Given the description of an element on the screen output the (x, y) to click on. 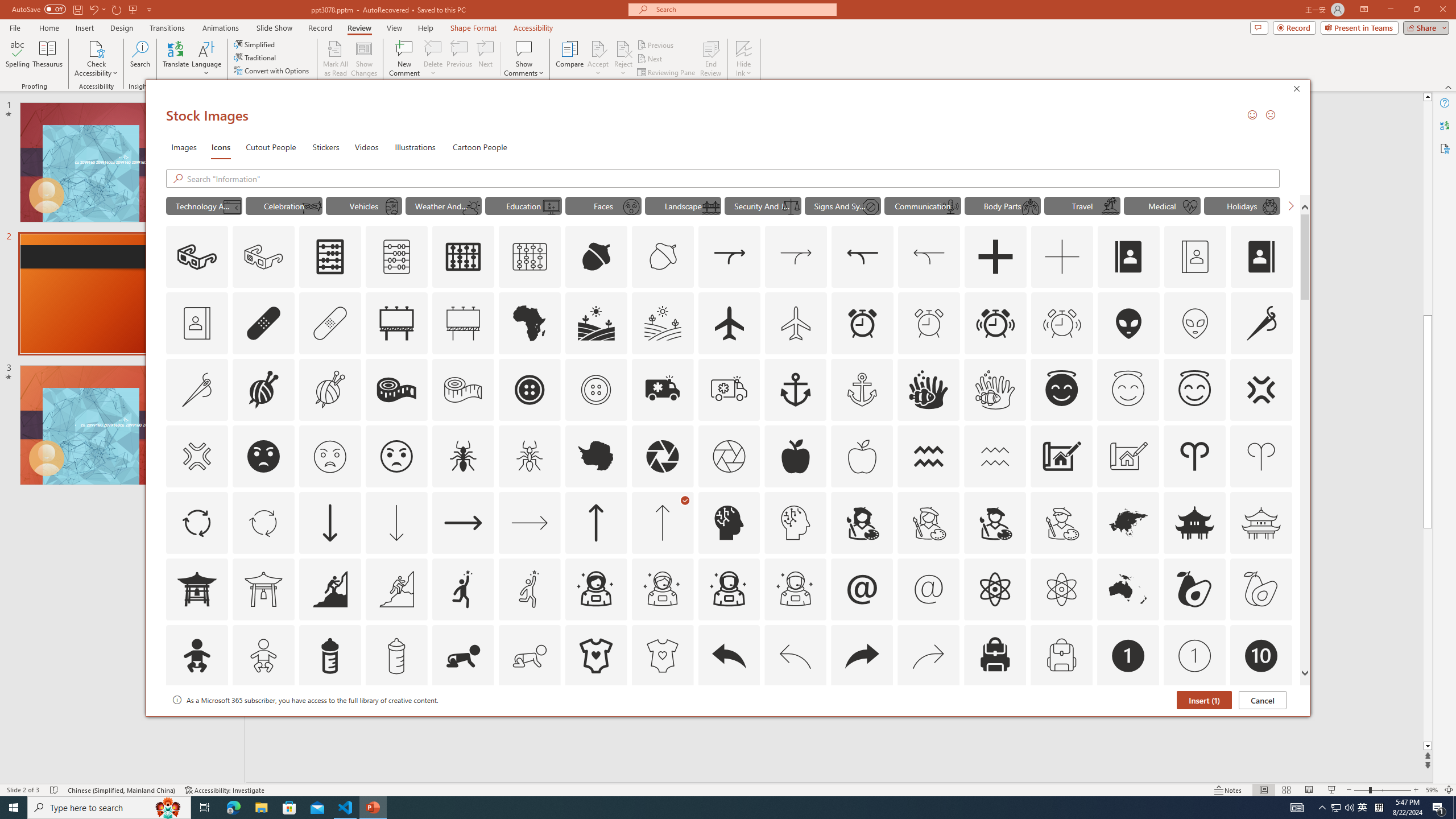
Send a Frown (1269, 114)
"Communication" Icons. (921, 205)
AutomationID: Icons_AlterationsTailoring (1261, 323)
AutomationID: Icons_AngerSymbol_M (196, 455)
AutomationID: Icons_Aperture (662, 455)
outline (1194, 389)
AutomationID: Icons_Ant (462, 455)
"Faces" Icons. (603, 205)
